Given the description of an element on the screen output the (x, y) to click on. 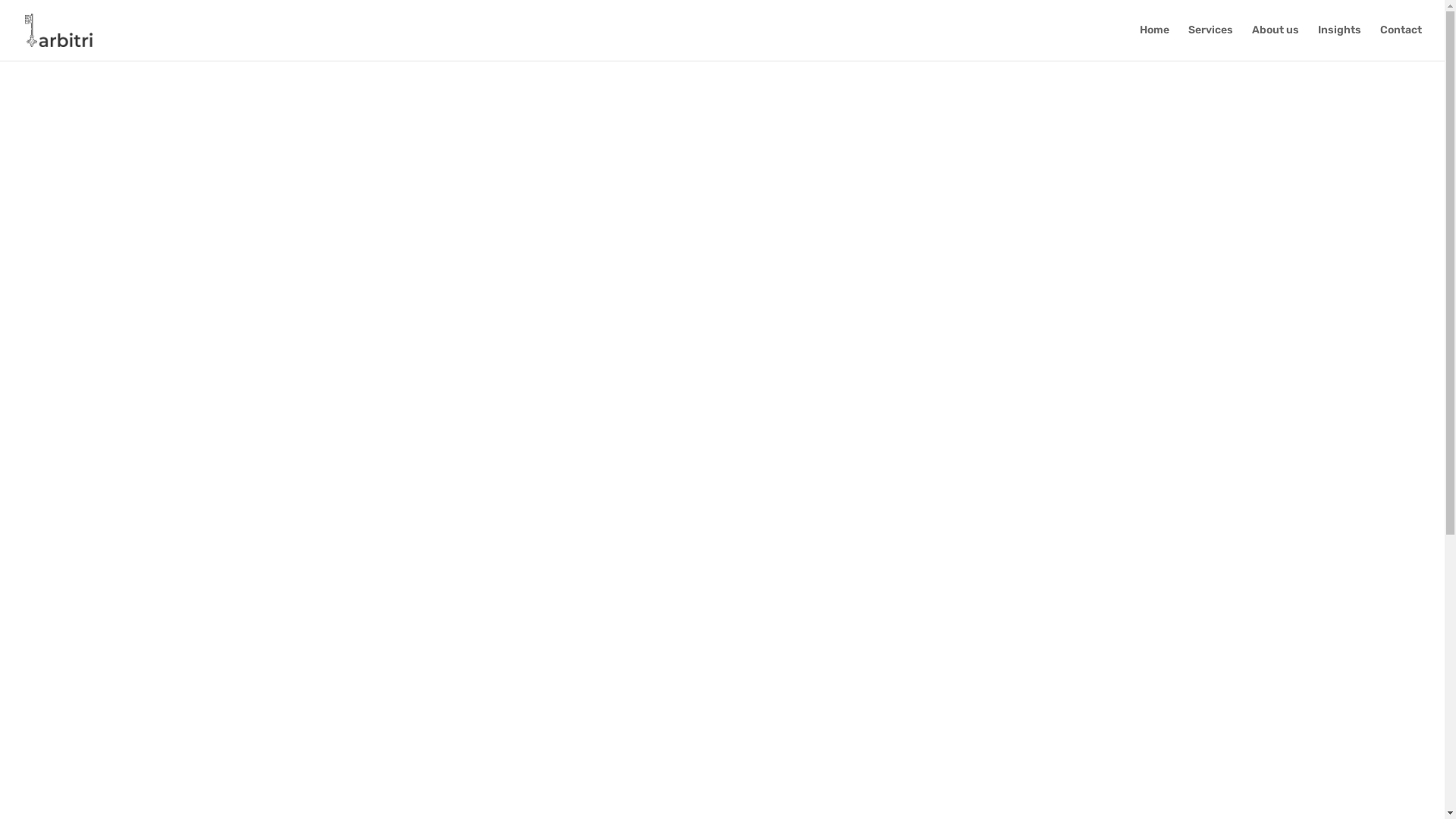
Insights Element type: text (1339, 42)
Home Element type: text (1154, 42)
Services Element type: text (1210, 42)
Contact Element type: text (1400, 42)
About us Element type: text (1275, 42)
